Given the description of an element on the screen output the (x, y) to click on. 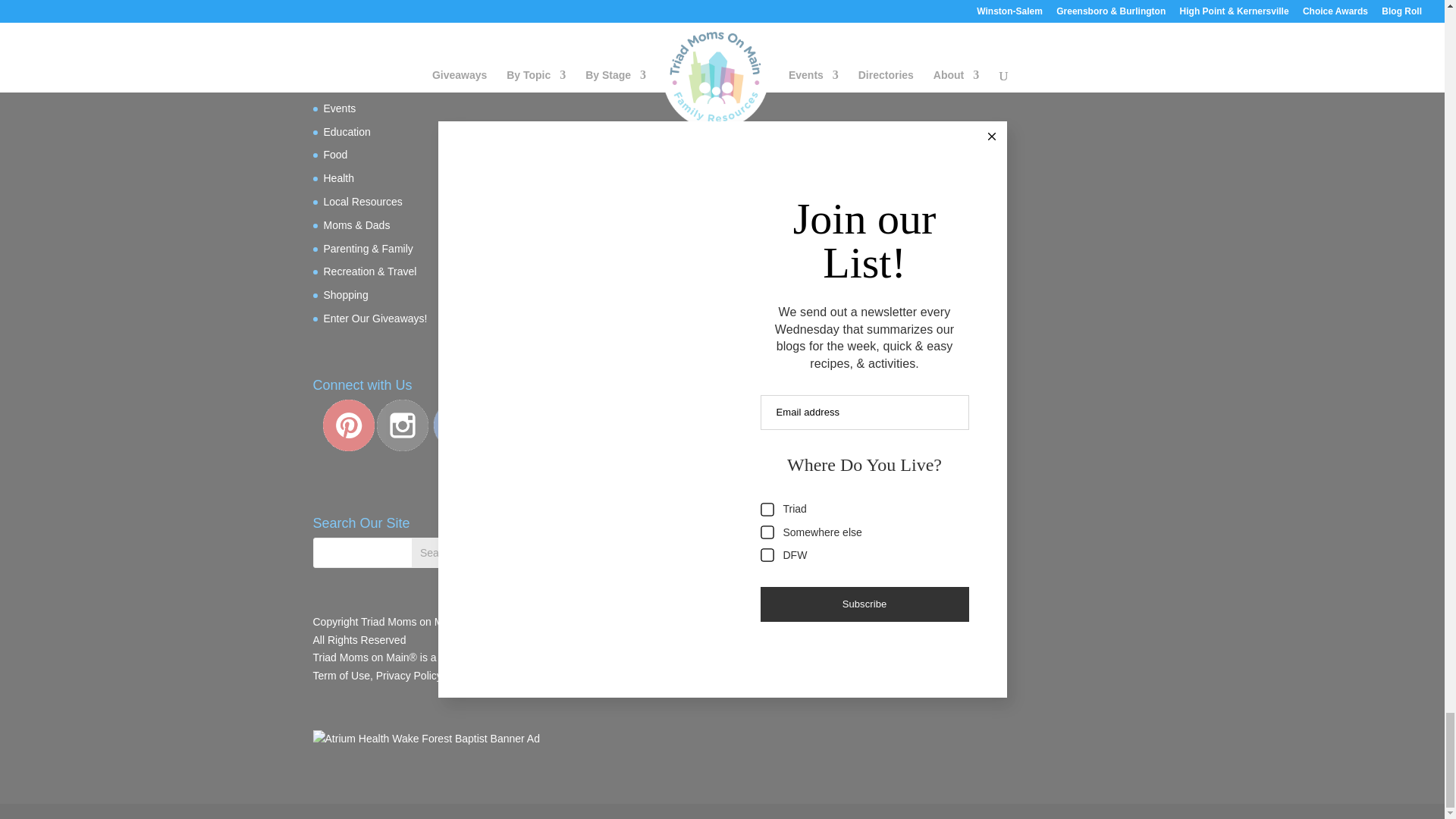
Search (436, 552)
